Given the description of an element on the screen output the (x, y) to click on. 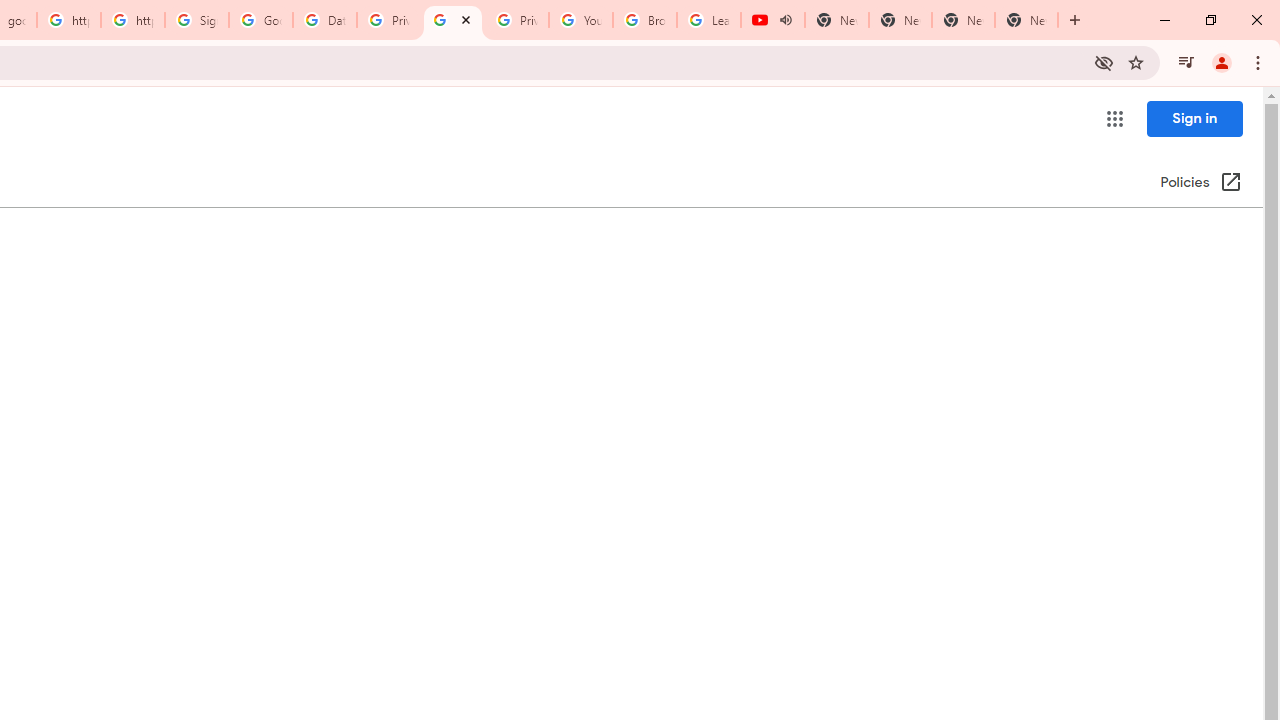
Privacy Help Center - Policies Help (389, 20)
https://scholar.google.com/ (69, 20)
Policies (Open in a new window) (1200, 183)
YouTube (581, 20)
New Tab (1026, 20)
Mute tab (785, 20)
Control your music, videos, and more (1185, 62)
